Given the description of an element on the screen output the (x, y) to click on. 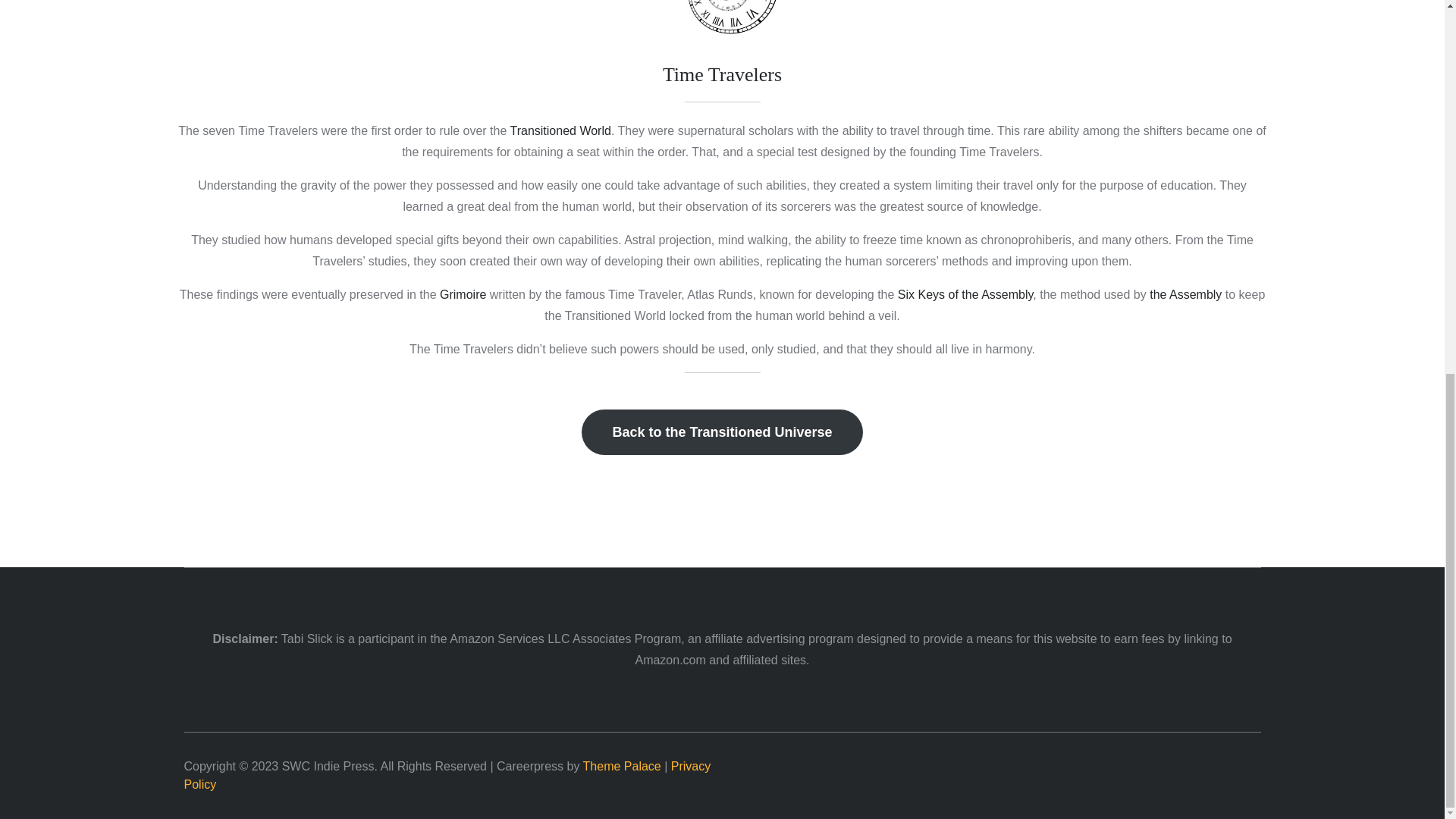
Privacy Policy (446, 775)
Grimoire (461, 294)
the Assembly (1185, 294)
Back to the Transitioned Universe (720, 432)
Transitioned World (559, 130)
Six Keys of the Assembly (965, 294)
Theme Palace (622, 766)
